Given the description of an element on the screen output the (x, y) to click on. 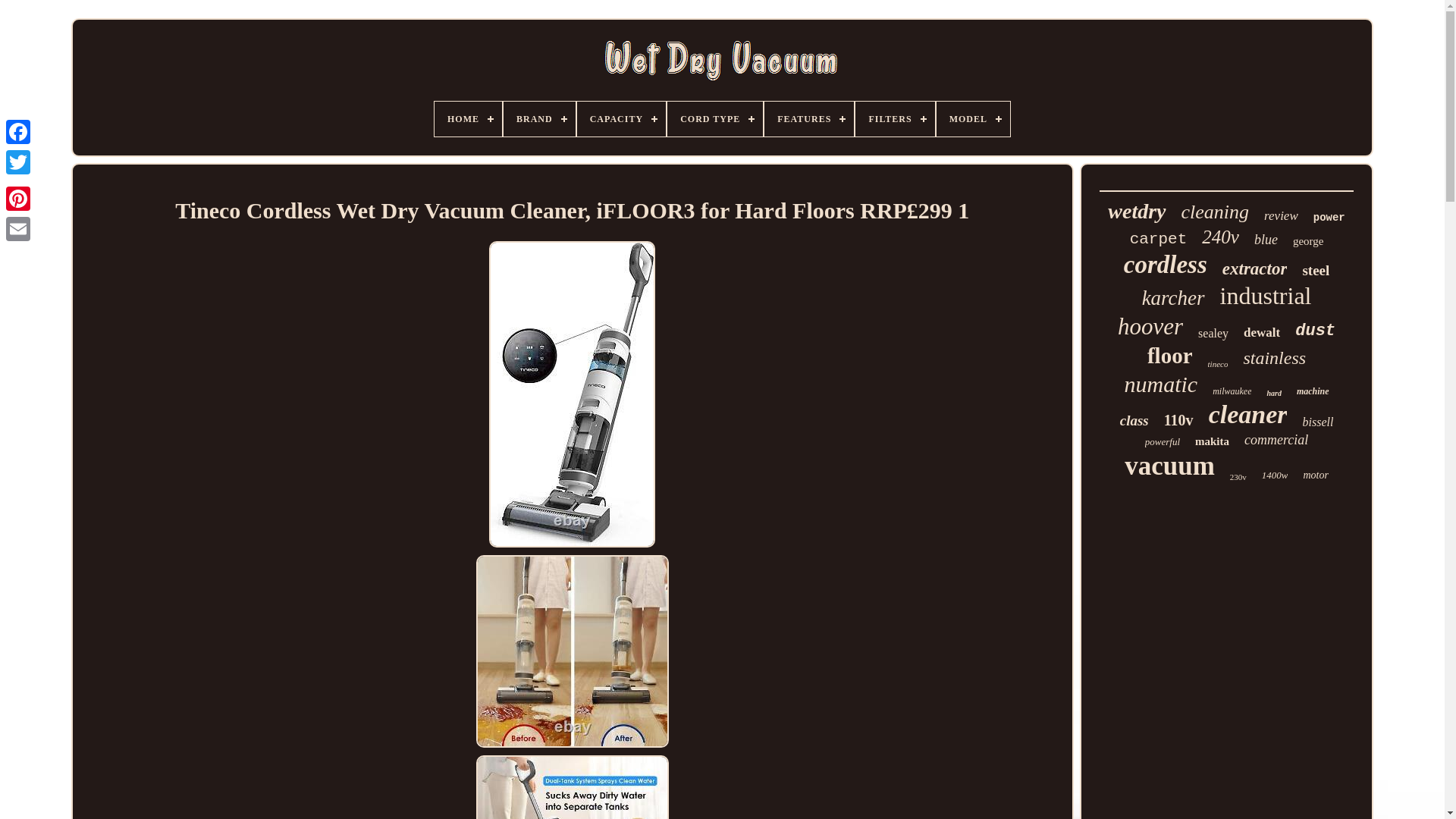
BRAND (539, 118)
HOME (467, 118)
CAPACITY (620, 118)
